Given the description of an element on the screen output the (x, y) to click on. 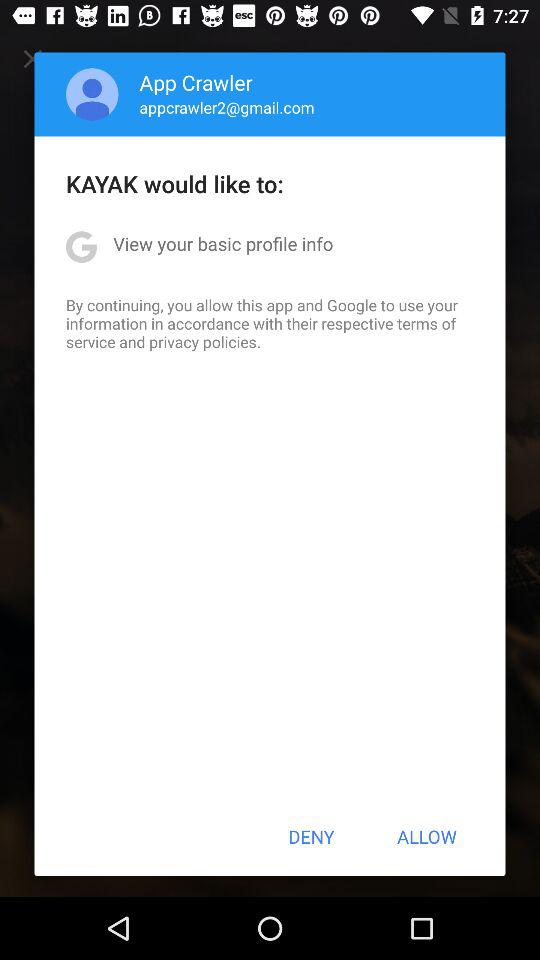
select the item to the left of allow button (311, 836)
